Given the description of an element on the screen output the (x, y) to click on. 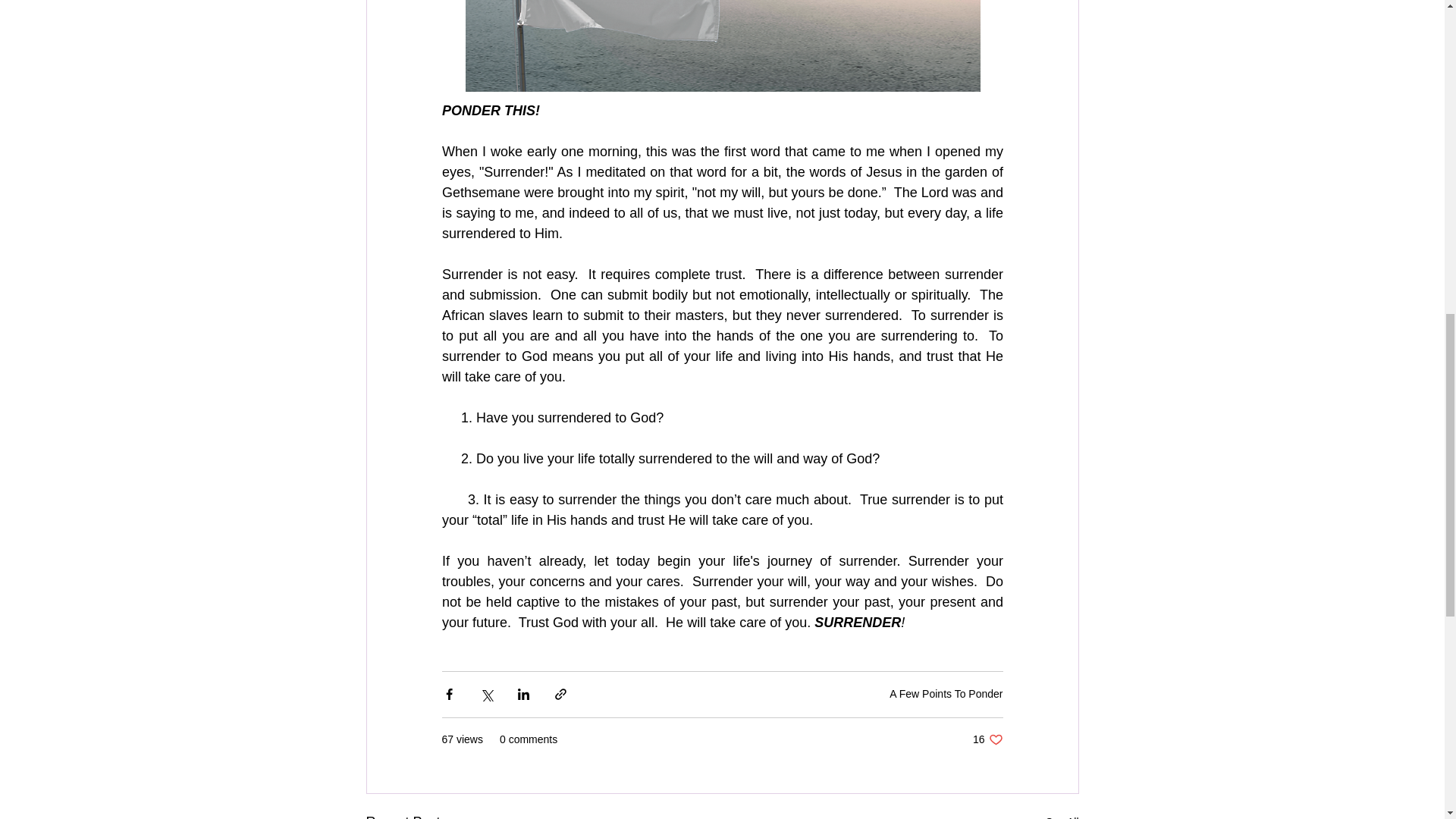
See All (1061, 815)
A Few Points To Ponder (946, 693)
